Given the description of an element on the screen output the (x, y) to click on. 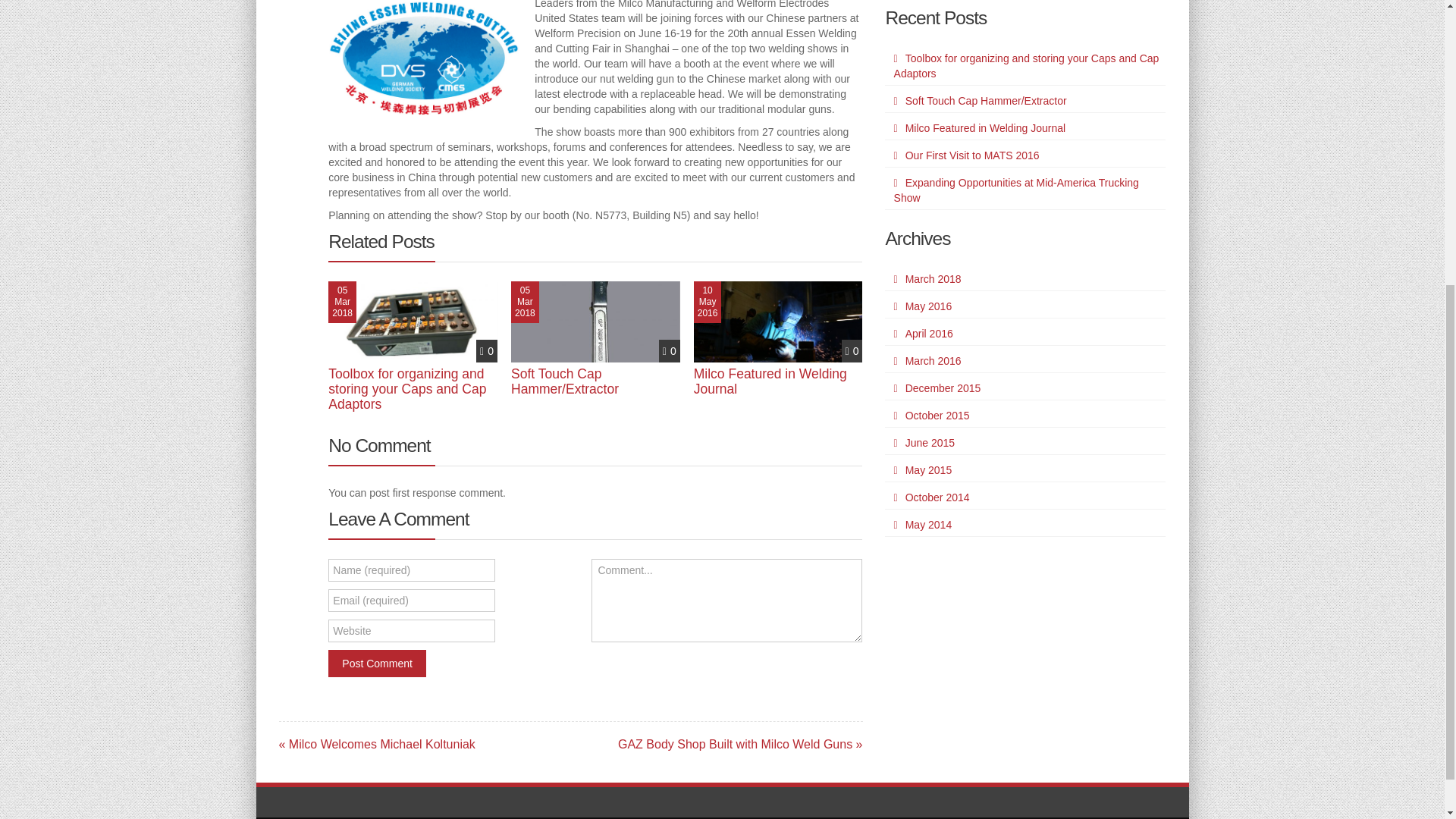
0 (669, 350)
Post Comment (377, 663)
0 (486, 350)
